Given the description of an element on the screen output the (x, y) to click on. 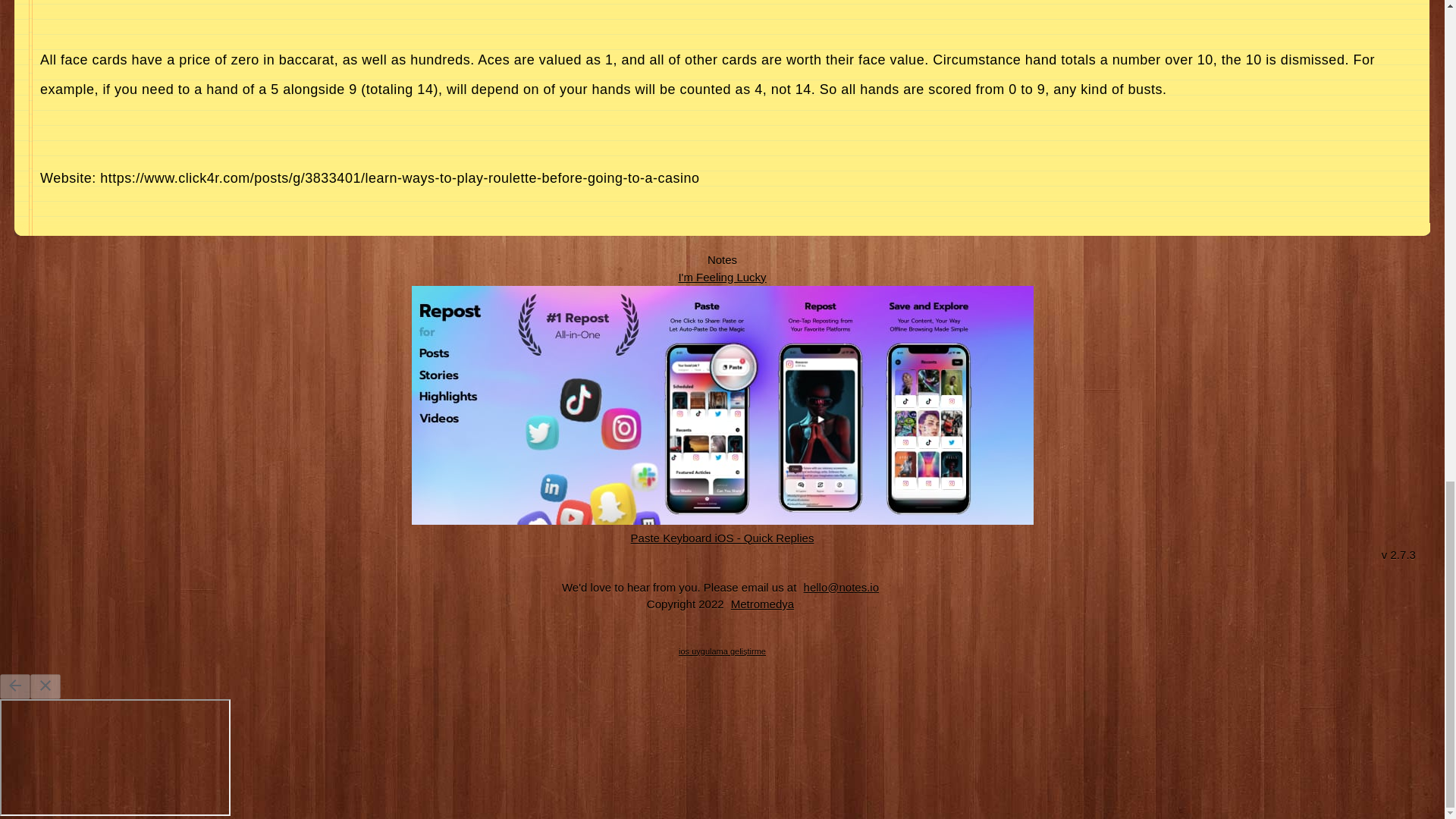
Feeling Luck (722, 276)
Paste Keyboard iOS - Quick Replies (722, 536)
Metromedya (761, 603)
Quick Replies iOS App Web Site (722, 536)
I'm Feeling Lucky (722, 276)
